Given the description of an element on the screen output the (x, y) to click on. 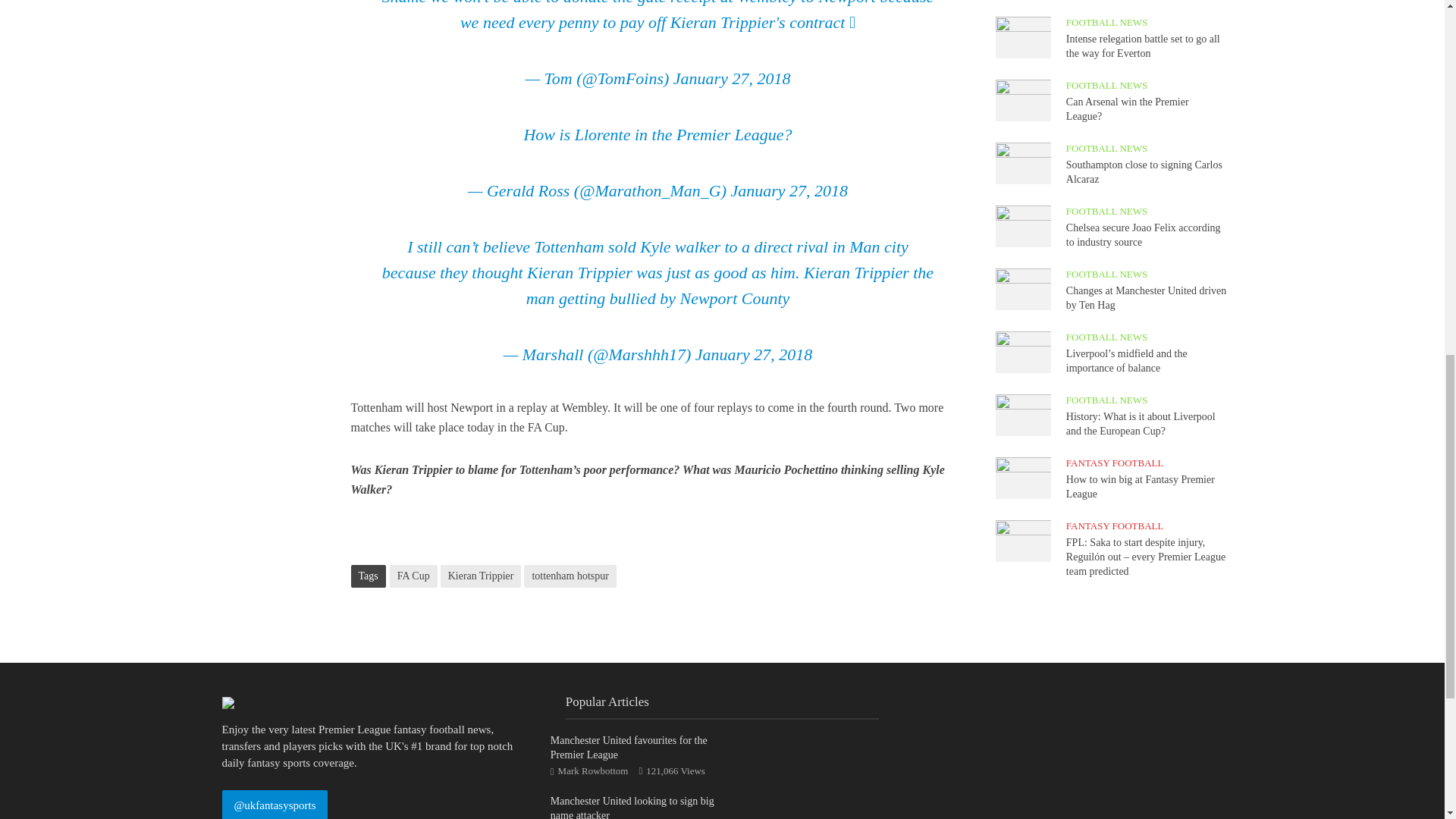
Southampton close to signing Carlos Alcaraz (1021, 162)
Can Arsenal win the Premier League? (1021, 99)
History: What is it about Liverpool and the European Cup? (1021, 413)
Intense relegation battle set to go all the way for Everton (1021, 36)
Changes at Manchester United driven by Ten Hag (1021, 287)
Chelsea secure Joao Felix according to industry source (1021, 224)
